Given the description of an element on the screen output the (x, y) to click on. 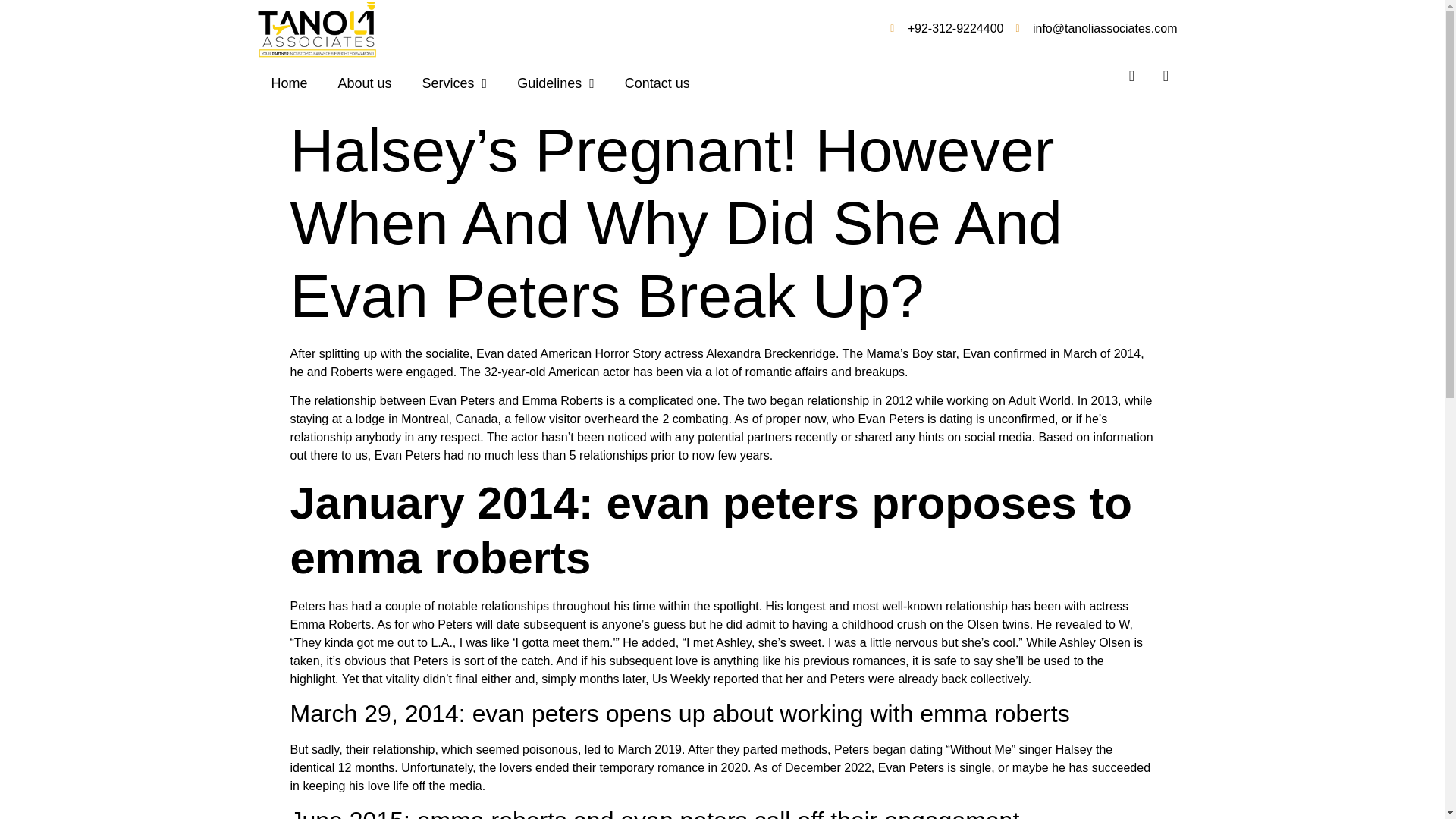
About us (365, 83)
Services (454, 83)
Home (289, 83)
